Given the description of an element on the screen output the (x, y) to click on. 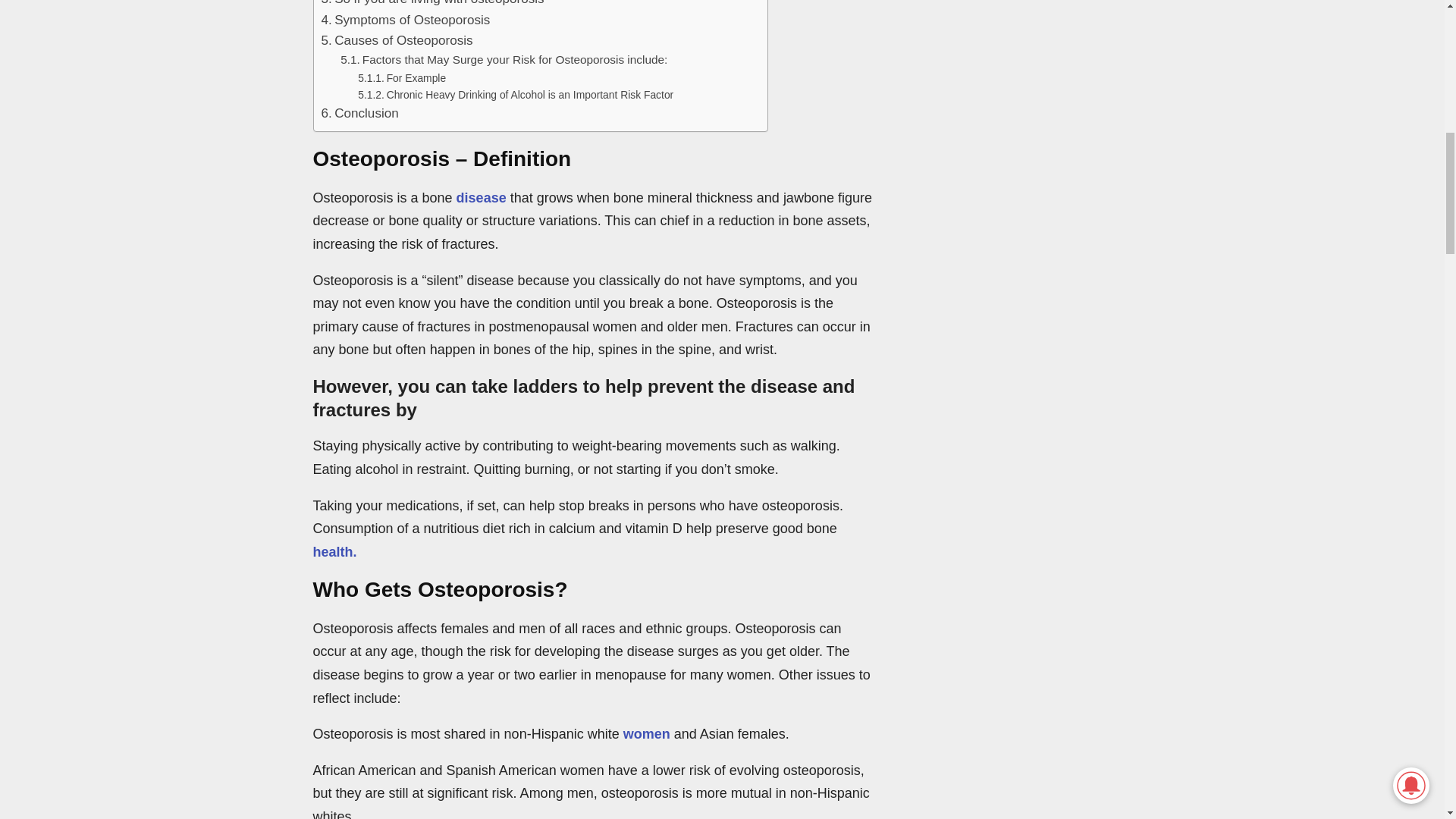
Conclusion (359, 113)
Symptoms of Osteoporosis (405, 19)
Factors that May Surge your Risk for Osteoporosis include: (503, 59)
Conclusion (359, 113)
health. (334, 551)
Causes of Osteoporosis (397, 40)
So if you are living with osteoporosis (432, 4)
disease (481, 197)
For Example (401, 77)
Causes of Osteoporosis (397, 40)
For Example (401, 77)
So if you are living with osteoporosis (432, 4)
